Given the description of an element on the screen output the (x, y) to click on. 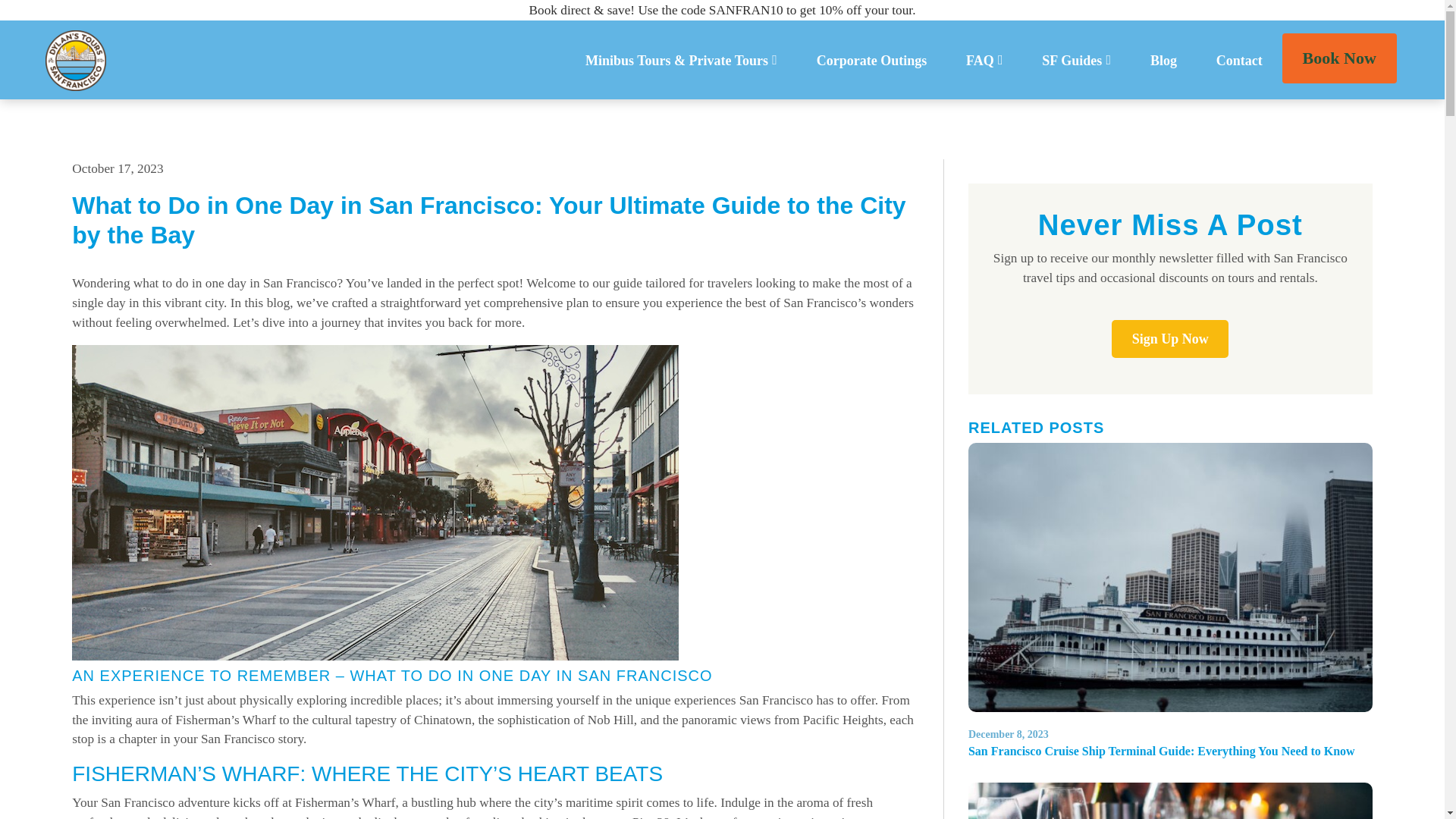
Minibus Tours (654, 113)
Muir Woods (1111, 113)
Contact (1238, 60)
FAQ (984, 60)
Contact (1238, 60)
About (1034, 113)
SF Guides (1076, 60)
Corporate Outings (871, 60)
About (1034, 113)
Book Now (1339, 58)
FAQs (984, 60)
